Given the description of an element on the screen output the (x, y) to click on. 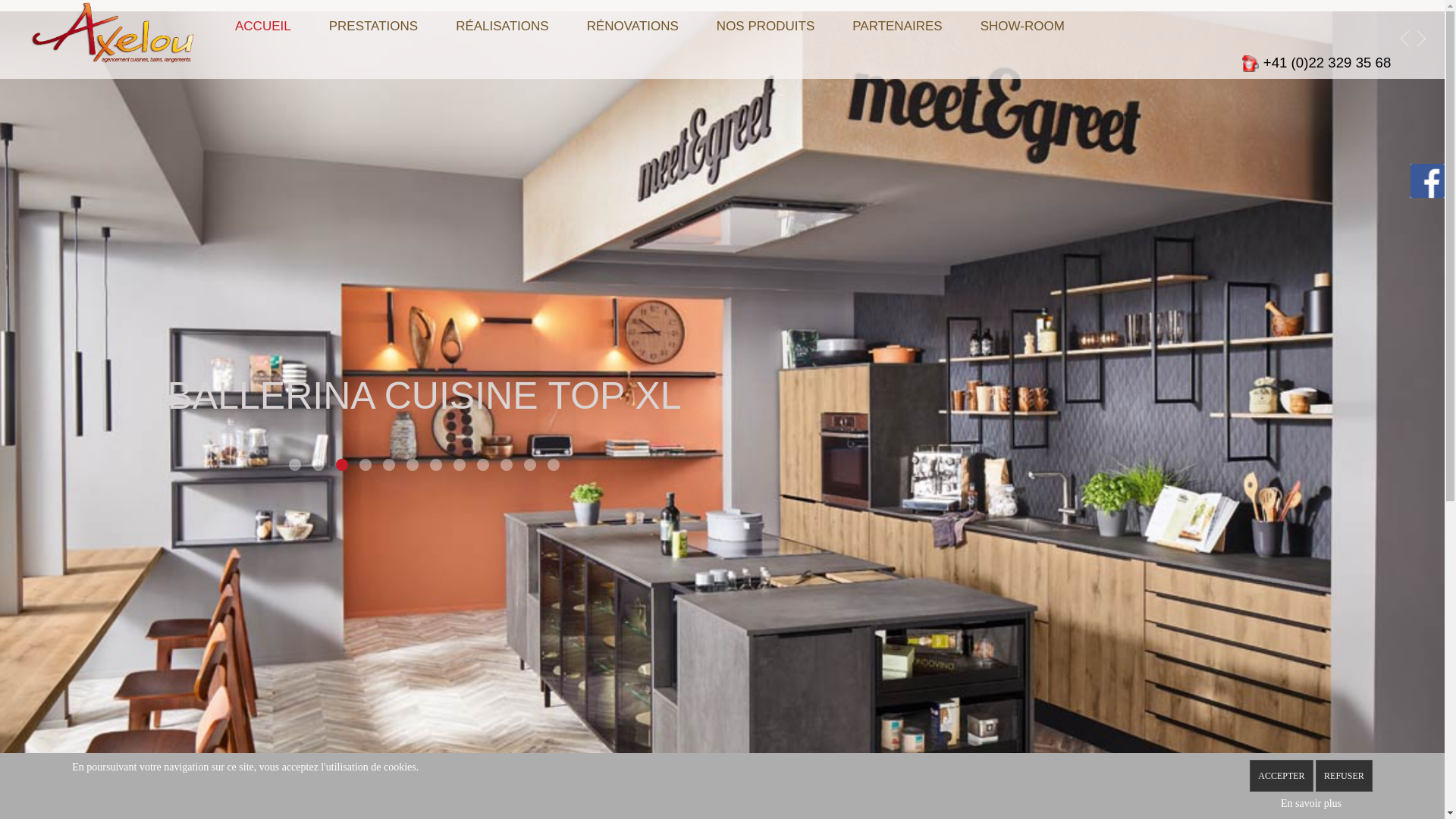
NOS PRODUITS Element type: text (765, 26)
BALLERINA CUISINE TOP XL Element type: text (292, 464)
DOCA CUISIN ANVIL Element type: text (457, 464)
DOCA CUISINE CUSAN Element type: text (269, 464)
PRESTATIONS Element type: text (373, 26)
CUISINE DOCA LUXURY STONE Element type: text (316, 464)
DOCA DRESSING Element type: text (363, 464)
CUISINE DOCA GRAIN VIEJO Element type: text (386, 464)
PARTENAIRES Element type: text (896, 26)
ACCEPTER Element type: text (1280, 775)
CUISINE DOCA TIMALESS ROBLE Element type: text (433, 464)
REFUSER Element type: text (1343, 775)
ACCUEIL Element type: text (263, 26)
Faccebook Axelou Element type: hover (1427, 178)
BALLERINA CUISINE SOFIE Element type: text (245, 464)
CUISINE DOCA EVOLUCION ROBLE NAT Element type: text (339, 464)
BALLERINA CUISINE RESOPAL XL Element type: text (410, 464)
En savoir plus Element type: text (1310, 803)
CUISINE DOCA TIMELESS CASTANER FERNOR Element type: text (504, 464)
CUISINE DOCA SMOGAL Element type: text (480, 464)
SHOW-ROOM Element type: text (1022, 26)
